Given the description of an element on the screen output the (x, y) to click on. 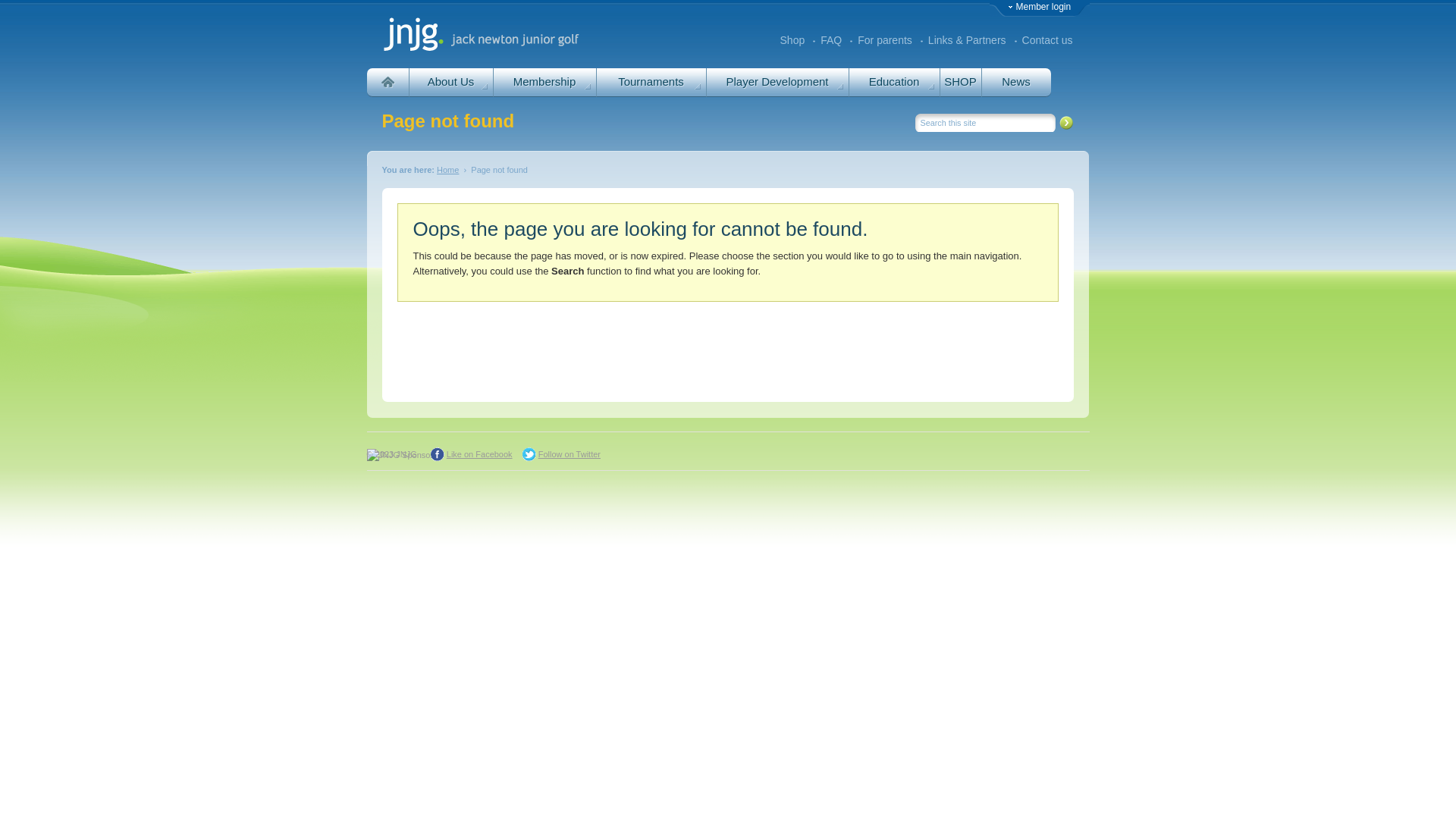
Follow on Twitter Element type: text (563, 453)
Home Element type: text (447, 169)
SHOP Element type: text (959, 82)
Education Element type: text (892, 82)
About Us Element type: text (449, 82)
Links & Partners Element type: text (966, 40)
For parents Element type: text (884, 40)
Membership Element type: text (544, 82)
Player Development Element type: text (776, 82)
Tournaments Element type: text (651, 82)
FAQ Element type: text (830, 40)
Like on Facebook Element type: text (473, 453)
Contact us Element type: text (1047, 40)
JNJG. Jack Newton Junior Golf Element type: hover (481, 33)
Member login Element type: text (1039, 6)
News Element type: text (1016, 82)
Shop Element type: text (792, 40)
